Given the description of an element on the screen output the (x, y) to click on. 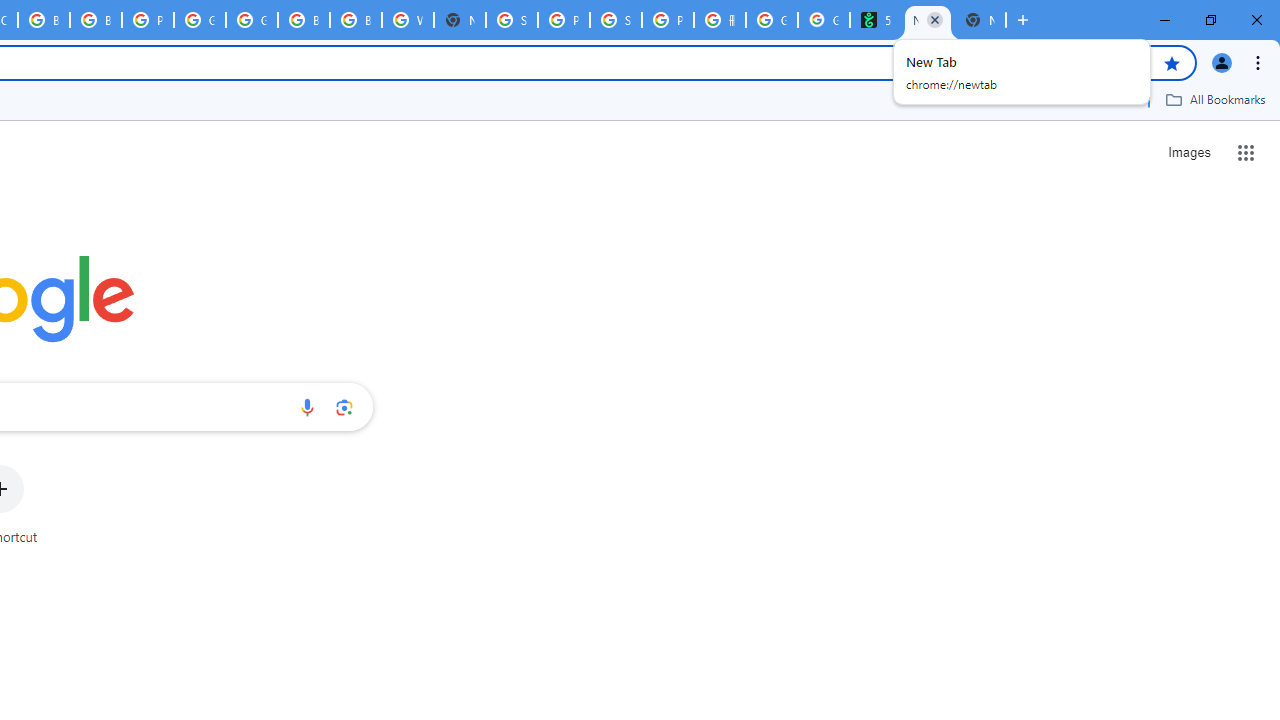
Google Cloud Platform (200, 20)
New Tab (459, 20)
Browse Chrome as a guest - Computer - Google Chrome Help (303, 20)
Google Cloud Platform (251, 20)
